Given the description of an element on the screen output the (x, y) to click on. 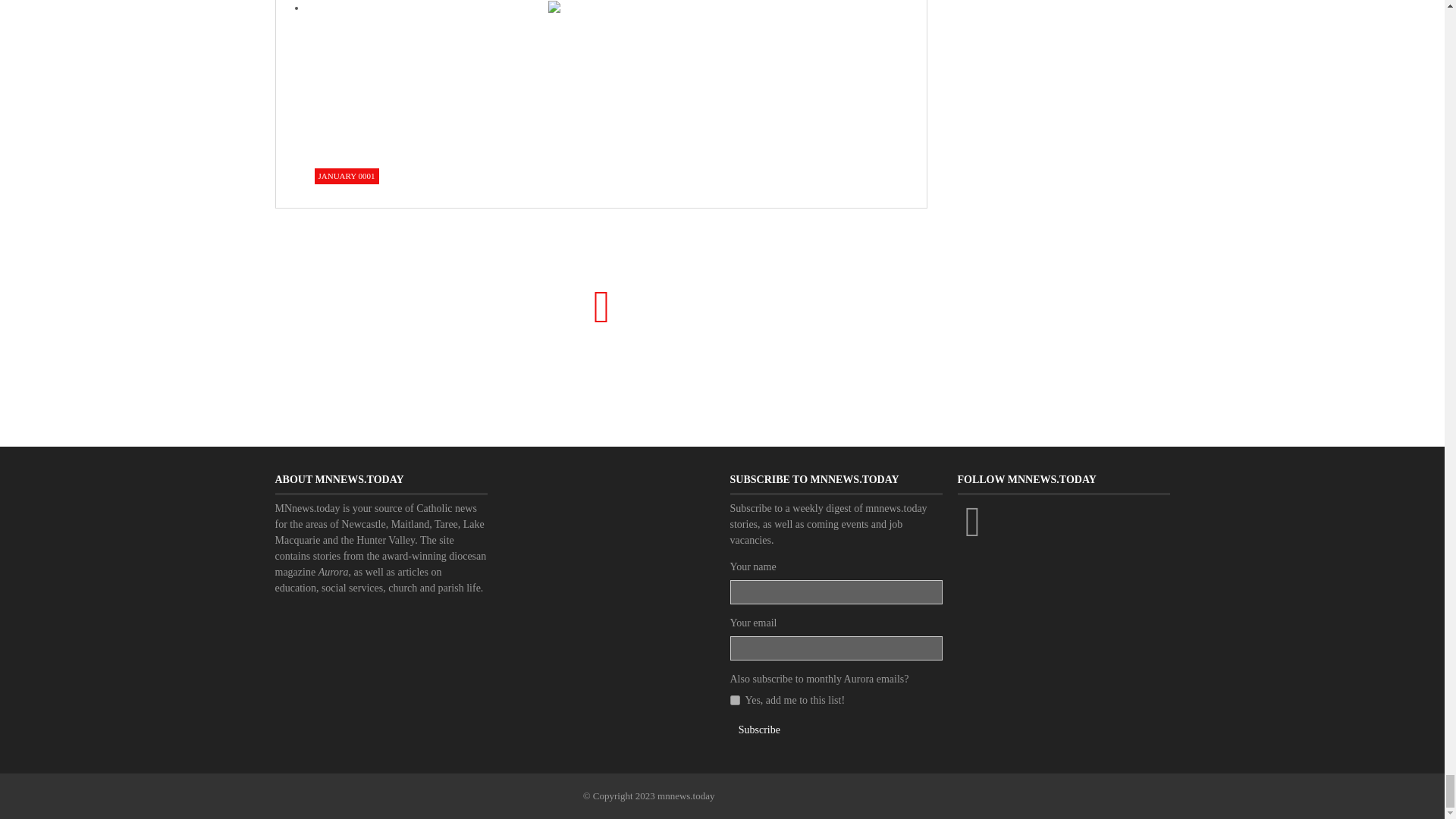
on (734, 700)
